Given the description of an element on the screen output the (x, y) to click on. 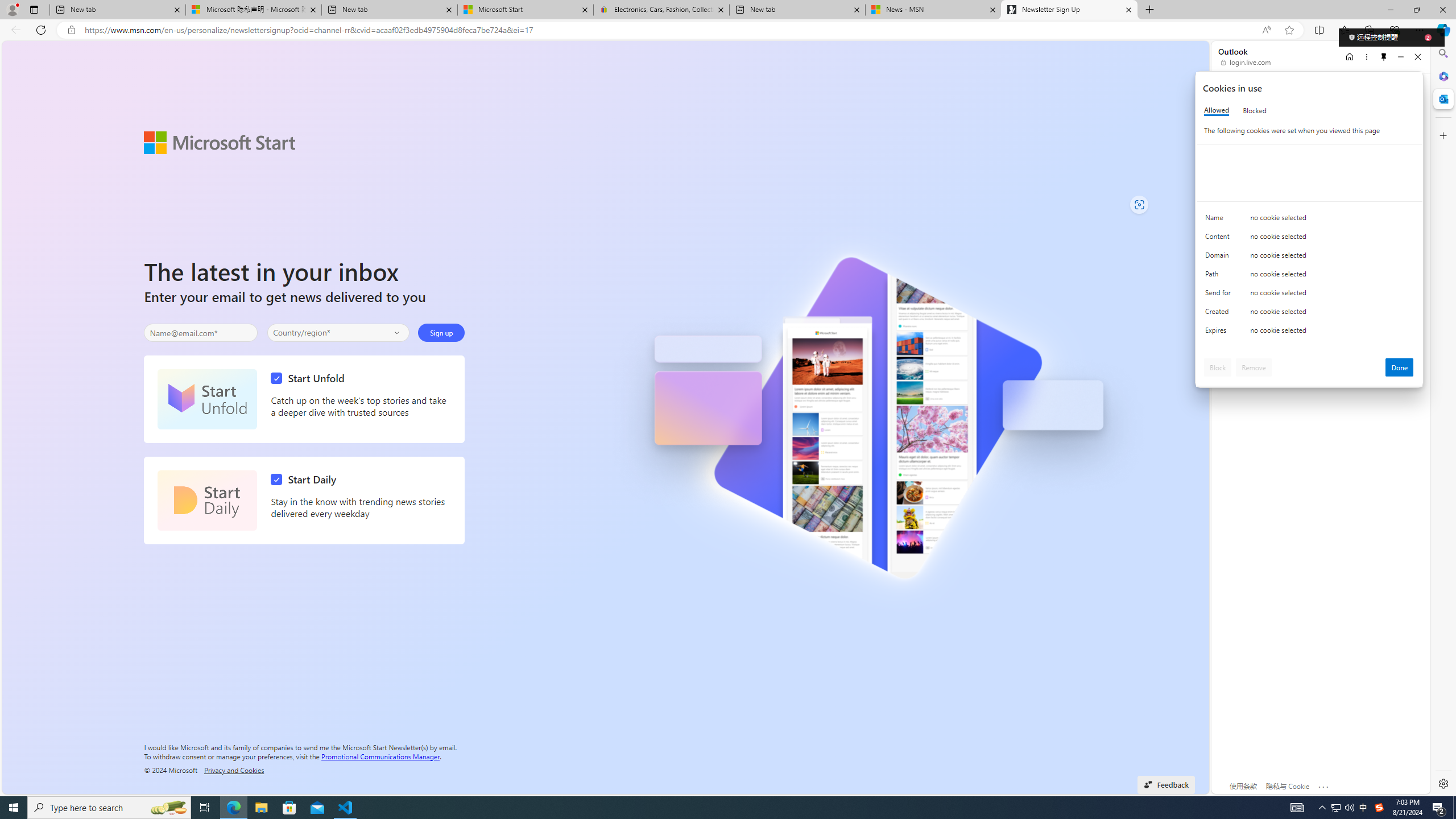
Start Daily (306, 479)
Done (1399, 367)
Content (1219, 239)
Name (1219, 220)
Newsletter Sign Up (1068, 9)
Start Unfold (310, 378)
